Given the description of an element on the screen output the (x, y) to click on. 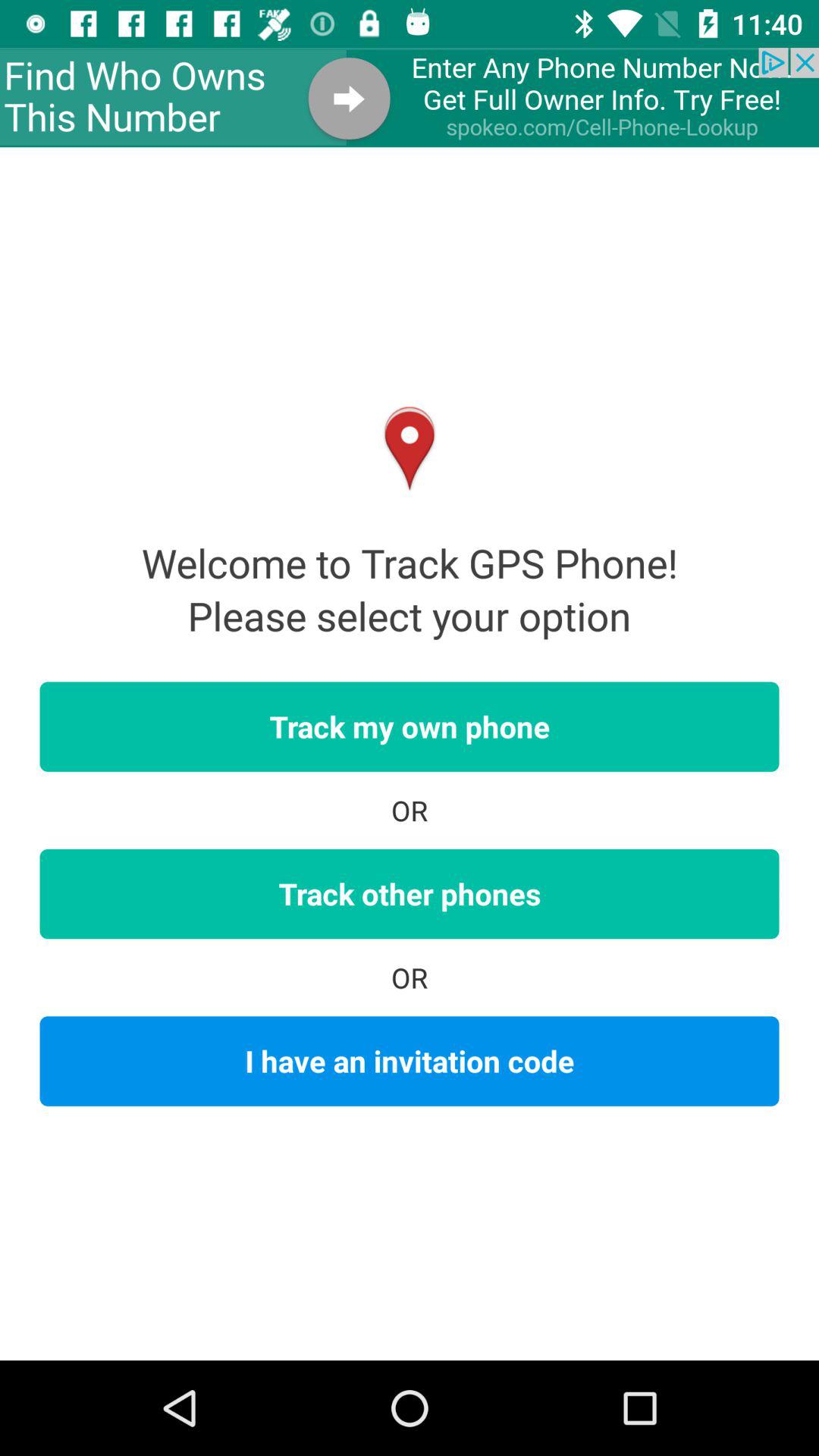
go to advertisement (409, 97)
